Given the description of an element on the screen output the (x, y) to click on. 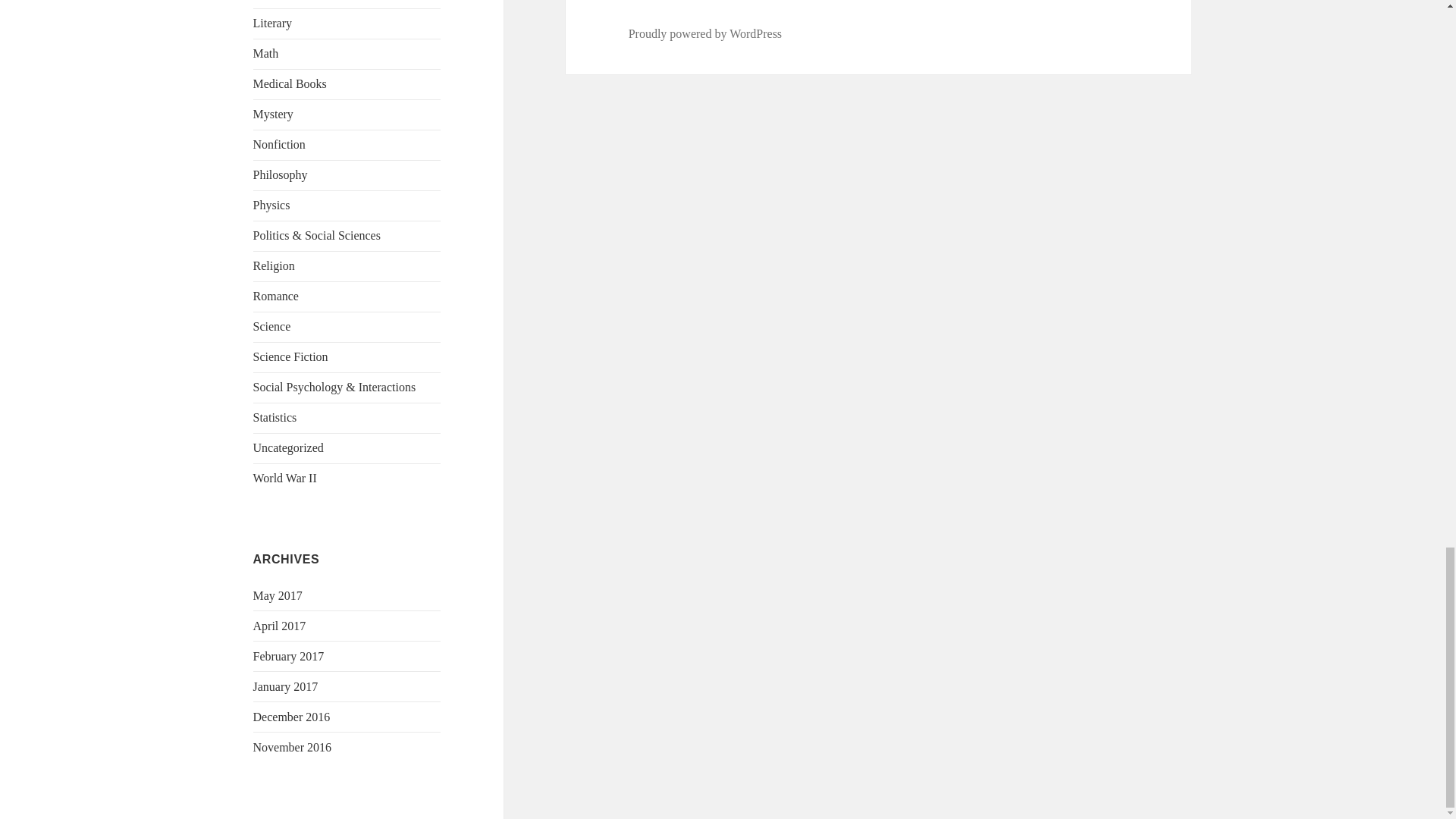
Mystery (273, 113)
Nonfiction (279, 144)
Physics (271, 205)
Math (266, 52)
Literary (272, 22)
Philosophy (280, 174)
Medical Books (289, 83)
